Given the description of an element on the screen output the (x, y) to click on. 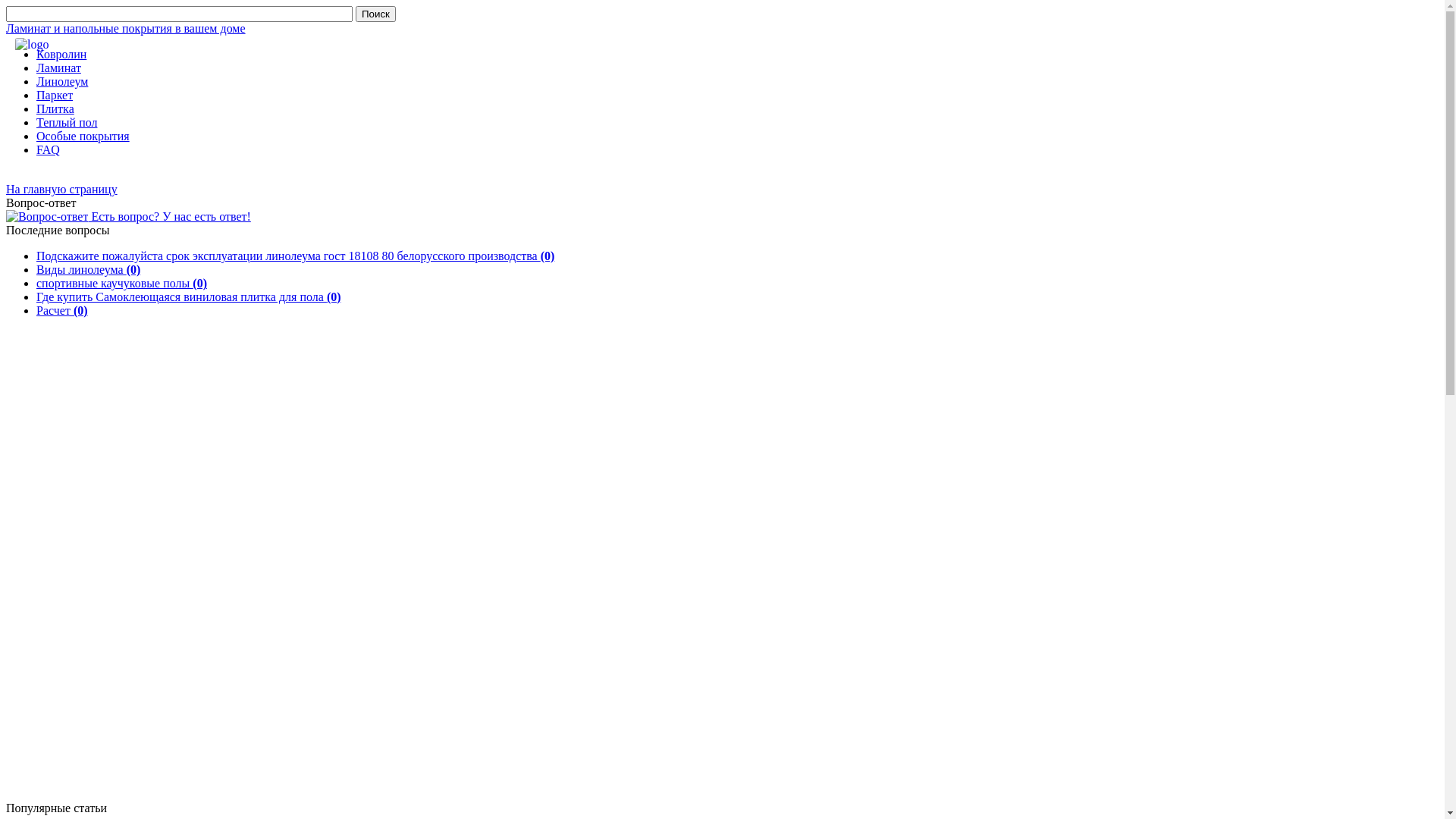
FAQ Element type: text (47, 149)
Advertisement Element type: hover (81, 570)
